Given the description of an element on the screen output the (x, y) to click on. 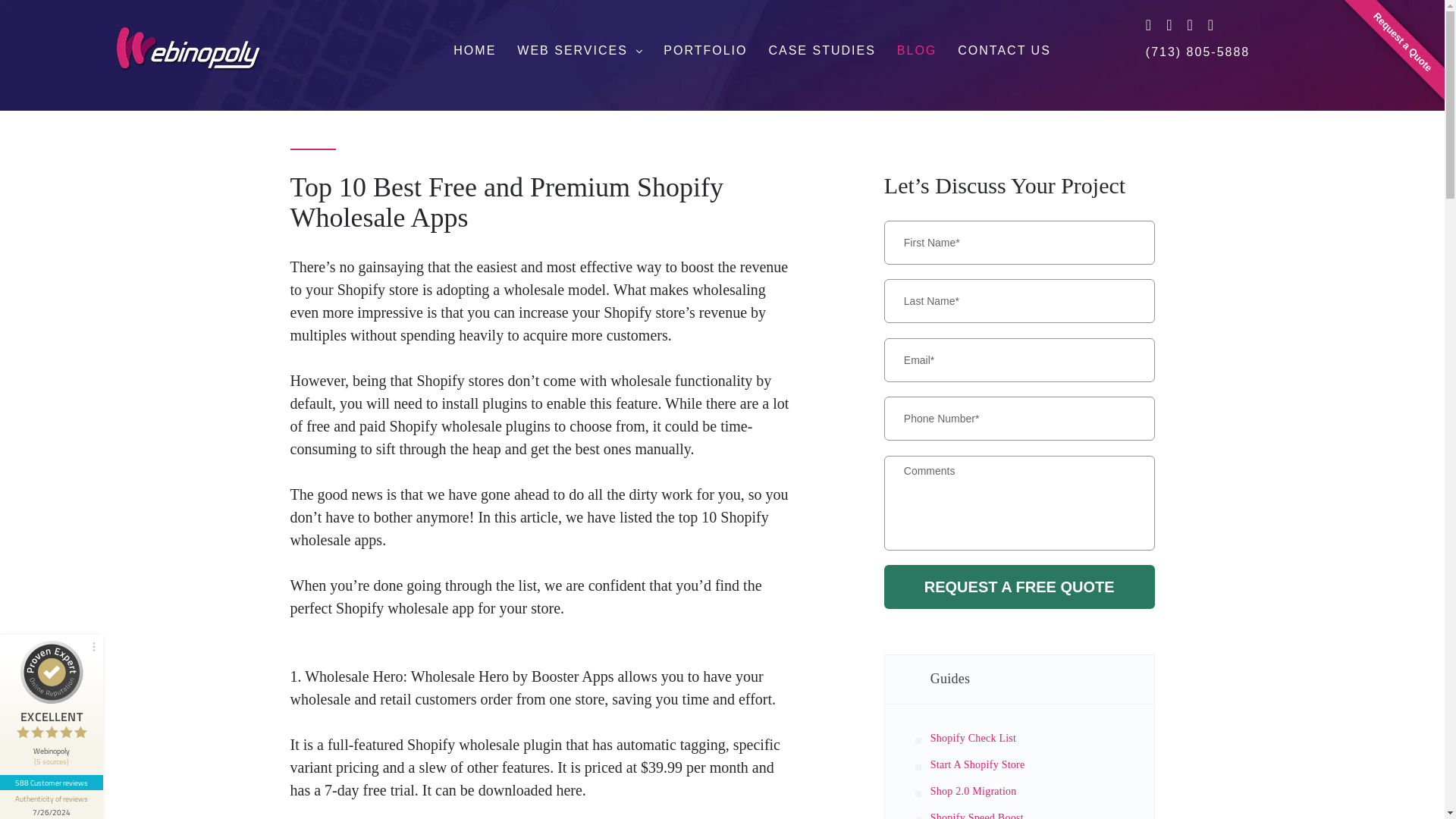
BLOG (916, 50)
HOME (474, 50)
Back to front page (113, 660)
Request a Free Quote (1018, 587)
CONTACT US (1004, 50)
PORTFOLIO (704, 50)
CASE STUDIES (821, 50)
Close back side (13, 638)
Authenticity of reviews (51, 804)
